Given the description of an element on the screen output the (x, y) to click on. 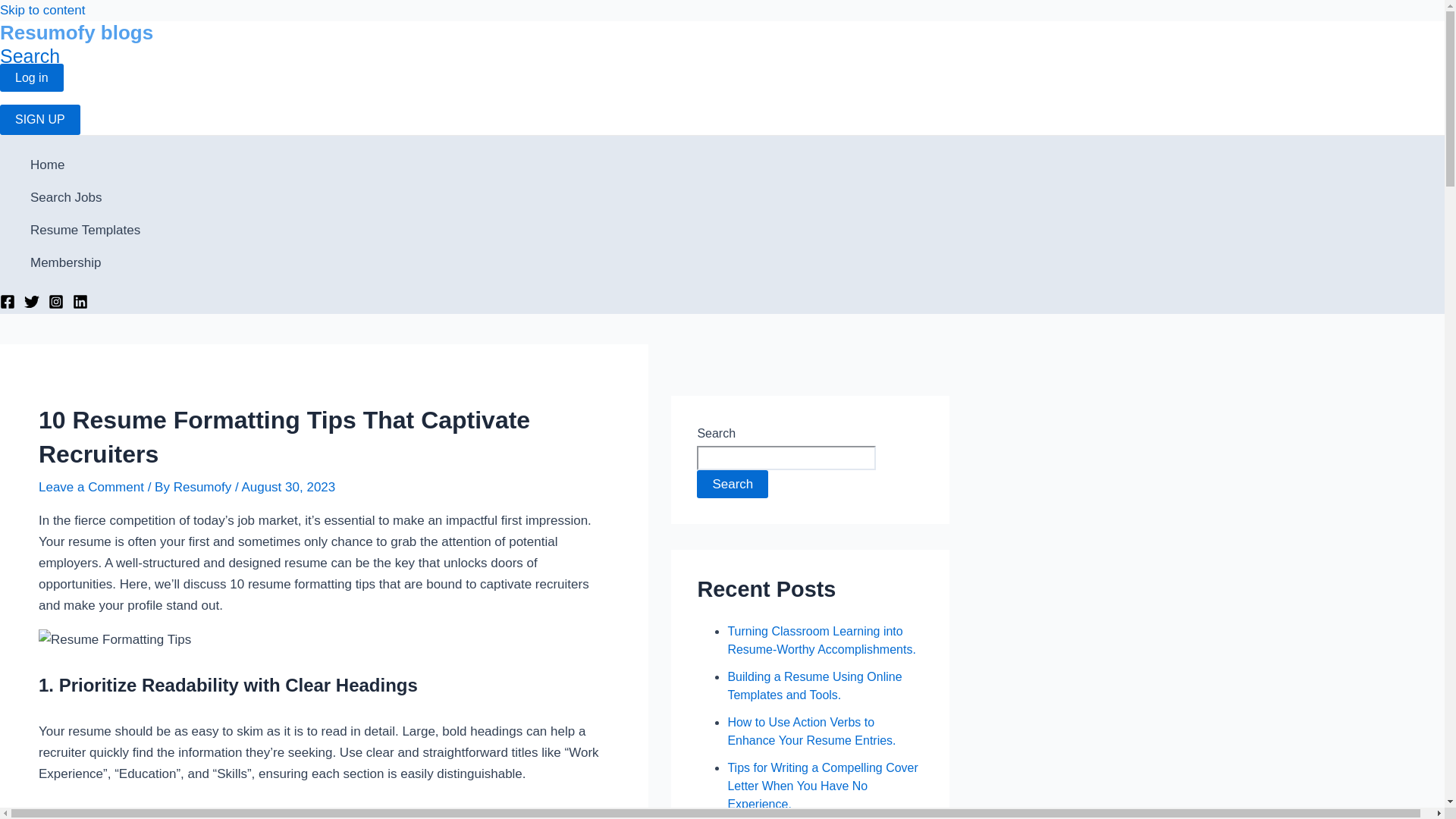
Resumofy (203, 486)
Log in (32, 77)
Skip to content (42, 10)
Skip to content (42, 10)
Resumofy Home (84, 164)
Resume Templates (84, 229)
SIGN UP (40, 119)
Leave a Comment (91, 486)
View all posts by Resumofy (203, 486)
Membership (84, 262)
Search Jobs (84, 196)
Search (29, 56)
Resume Templates (84, 229)
Search Jobs (84, 196)
Resumofy blogs (76, 32)
